Given the description of an element on the screen output the (x, y) to click on. 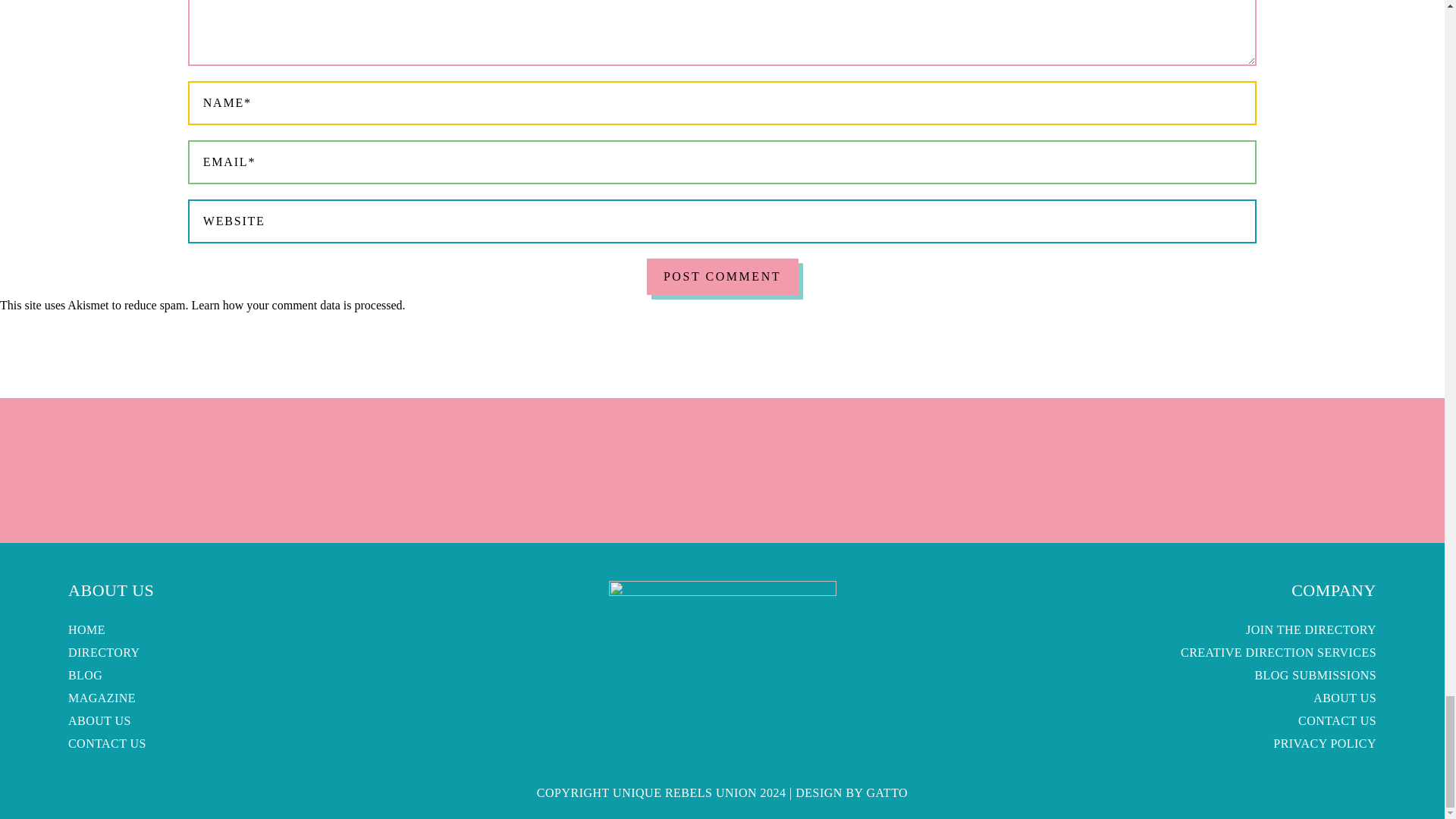
Post Comment (721, 276)
Post Comment (721, 276)
Learn how your comment data is processed (295, 305)
